Given the description of an element on the screen output the (x, y) to click on. 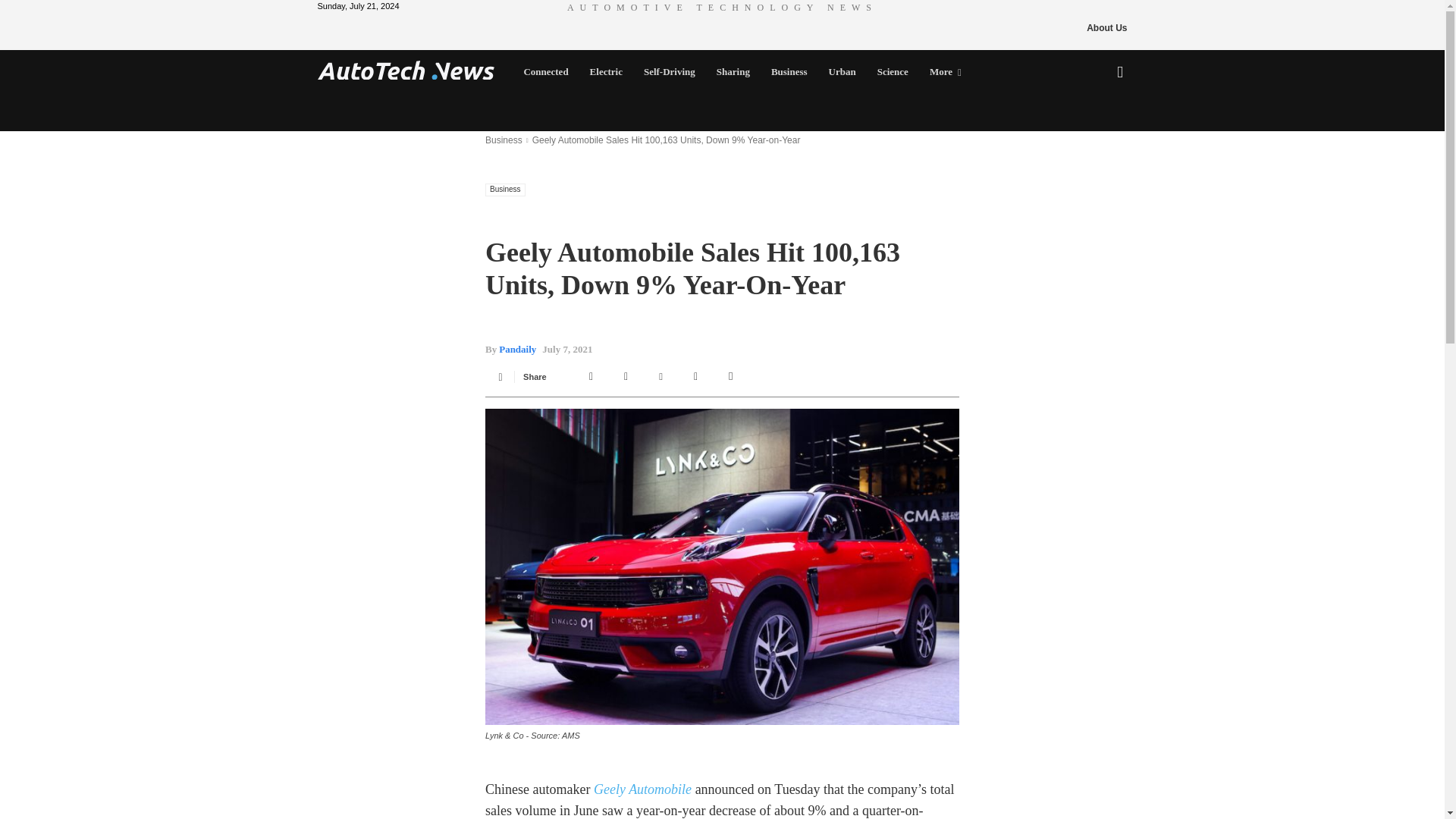
Urban (842, 71)
Business (789, 71)
Electric (606, 71)
More (945, 71)
Facebook (591, 376)
Self-Driving (669, 71)
Pinterest (661, 376)
About Us (1106, 27)
View all posts in Business (503, 140)
Science (892, 71)
Sharing (733, 71)
Linkedin (696, 376)
About Us (1106, 27)
Email (730, 376)
